Given the description of an element on the screen output the (x, y) to click on. 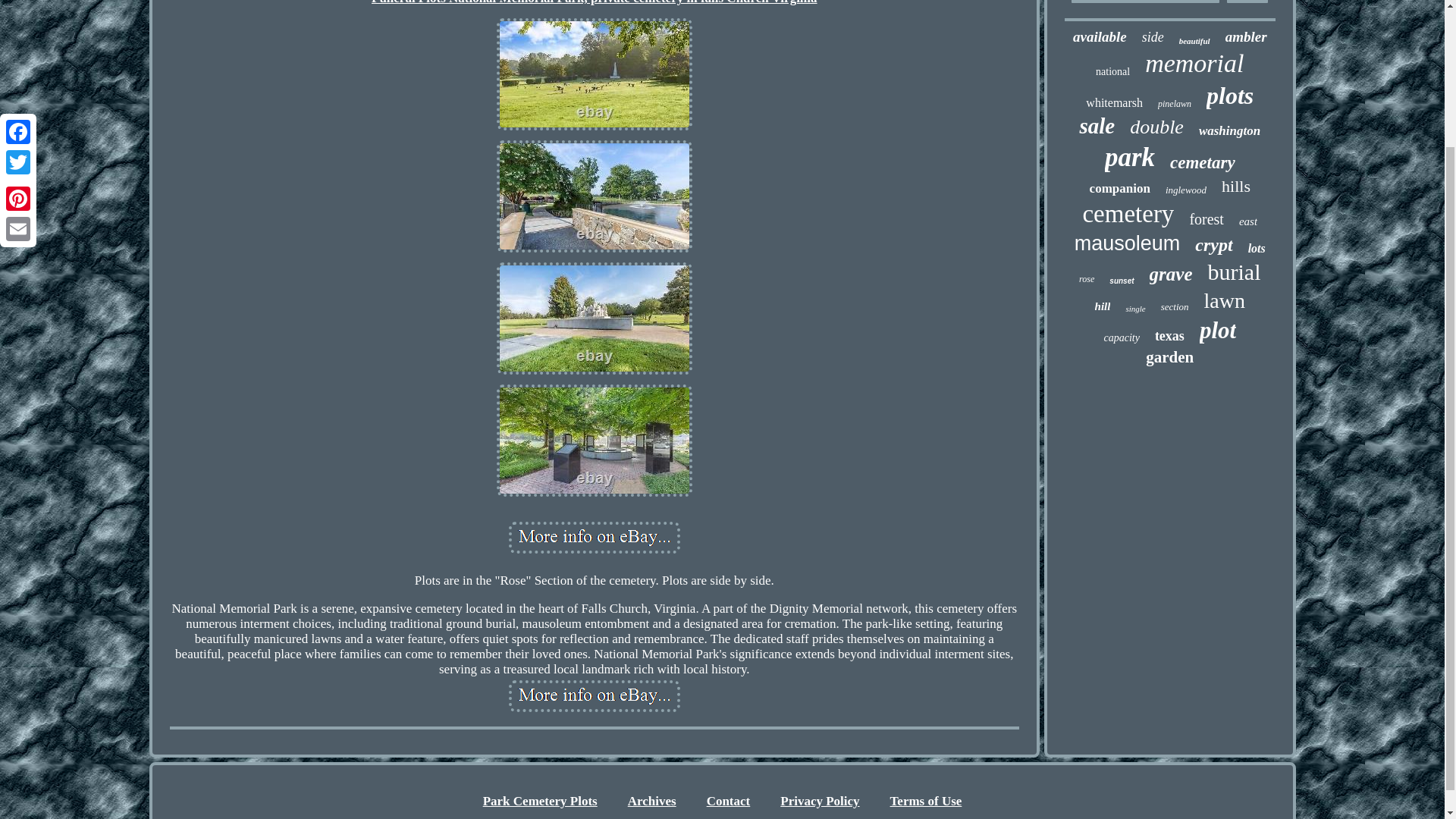
inglewood (1186, 190)
beautiful (1194, 40)
Twitter (17, 2)
memorial (1193, 63)
available (1099, 36)
Search (1247, 1)
ambler (1245, 36)
cemetery (1127, 213)
whitemarsh (1114, 102)
washington (1229, 130)
Search (1247, 1)
east (1248, 221)
hills (1235, 186)
